Given the description of an element on the screen output the (x, y) to click on. 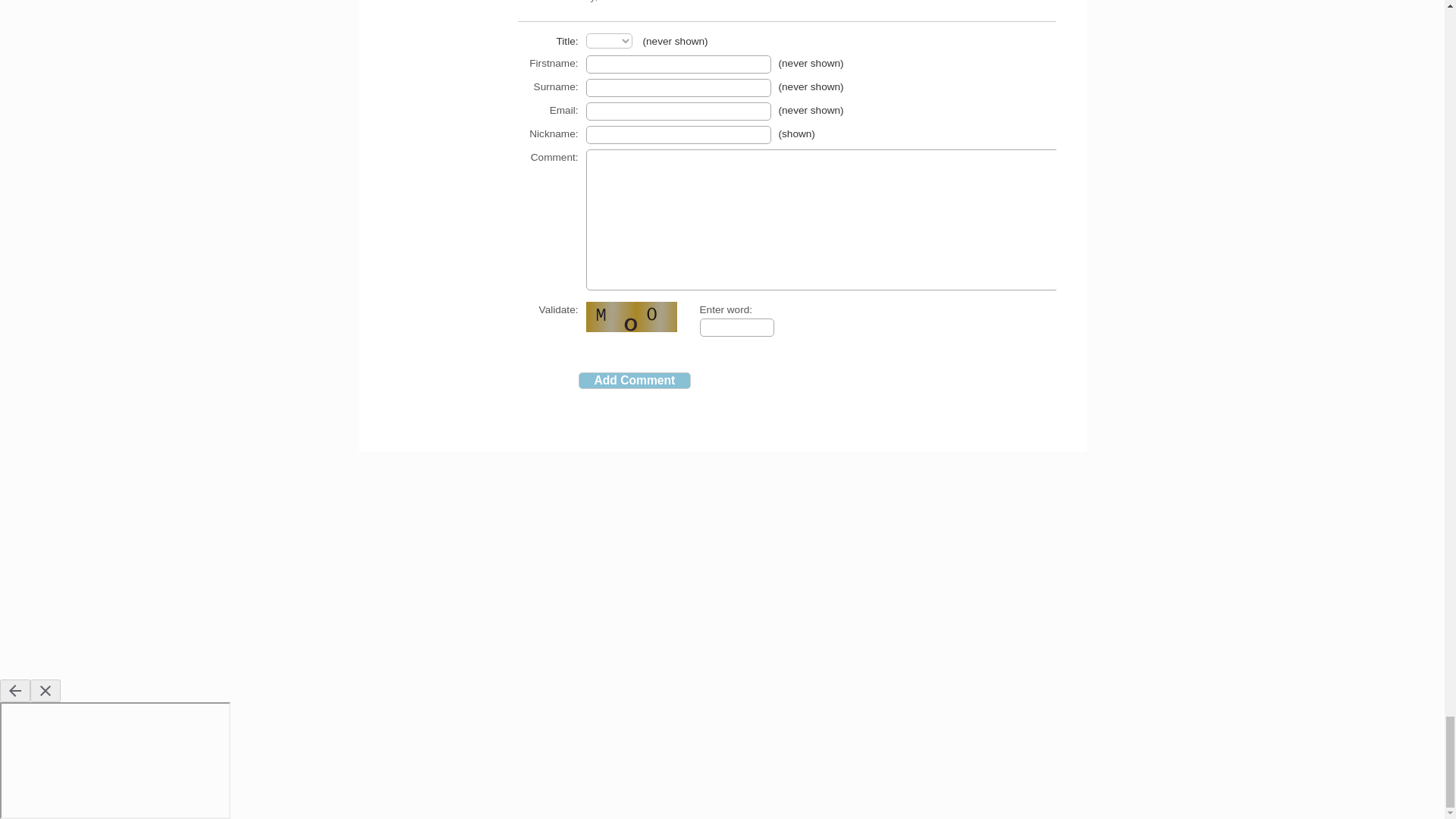
Add Comment (634, 380)
Add Comment (634, 380)
